Given the description of an element on the screen output the (x, y) to click on. 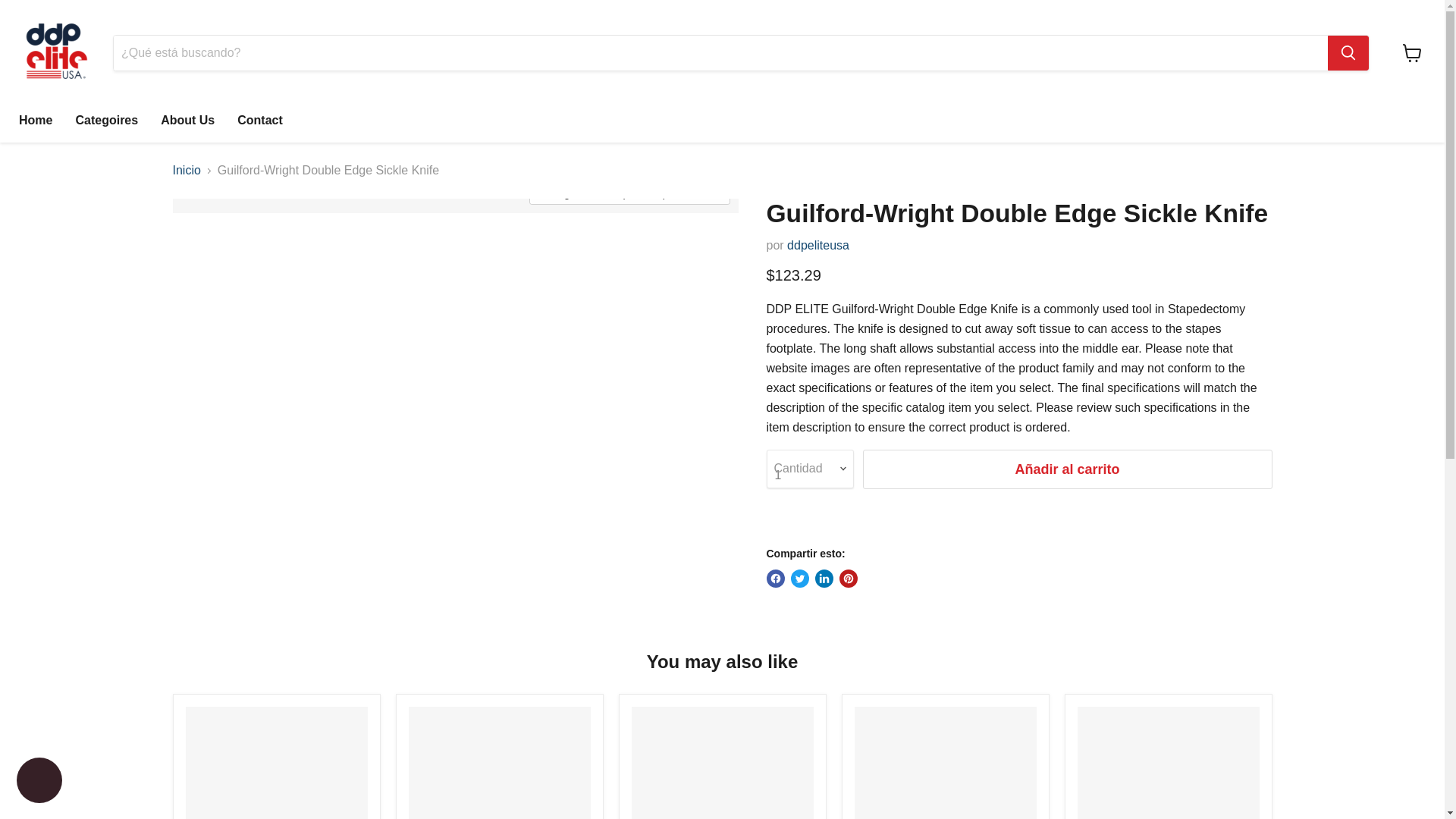
ddpeliteusa (817, 245)
Ver carrito (1411, 52)
Guardar en Pinterest (847, 578)
About Us (187, 120)
Compartir en LinkedIn (822, 578)
Inicio (186, 170)
Categoires (106, 120)
ddpeliteusa (817, 245)
Contact (259, 120)
Home (35, 120)
